Given the description of an element on the screen output the (x, y) to click on. 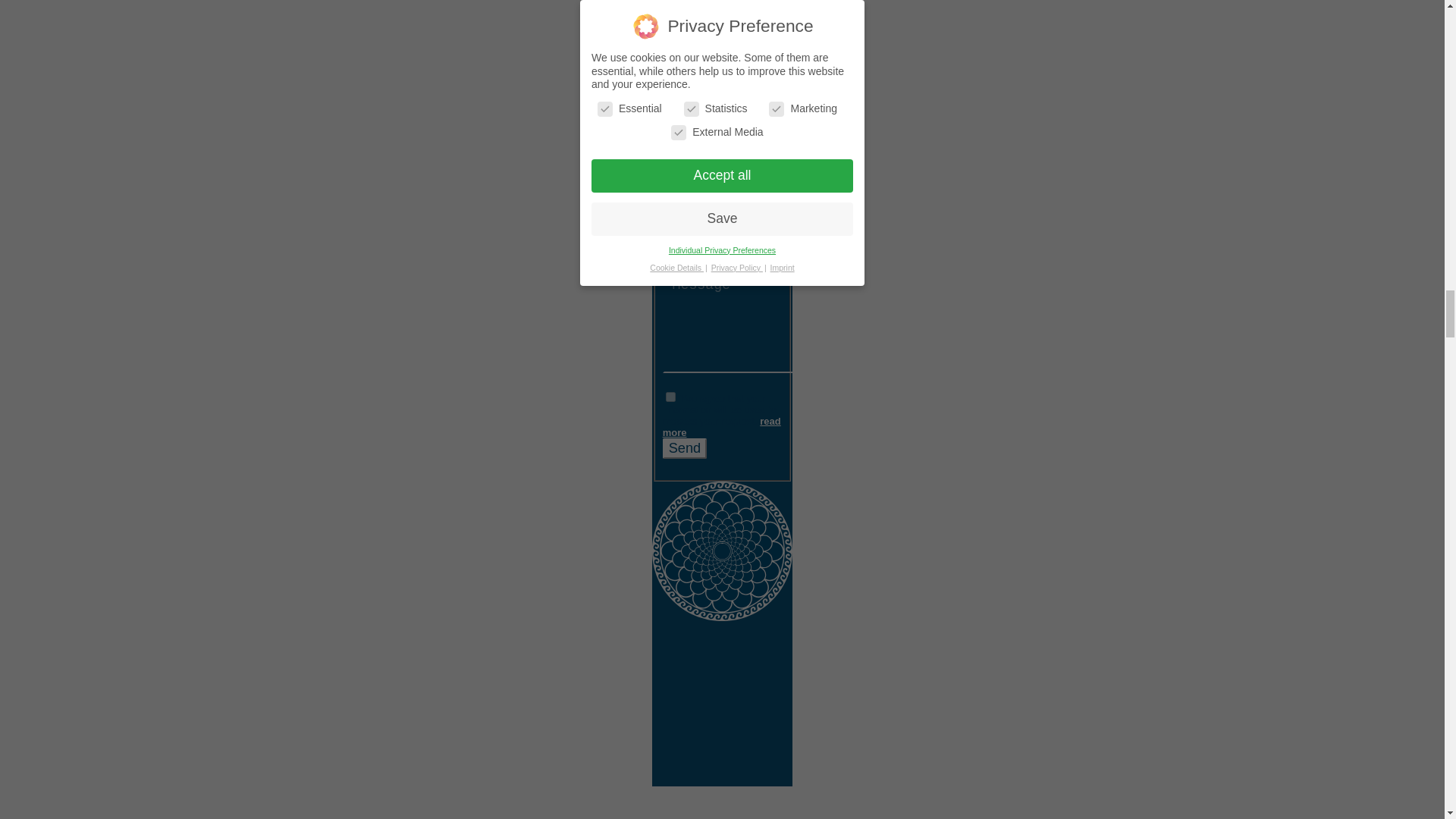
Send (684, 448)
